Given the description of an element on the screen output the (x, y) to click on. 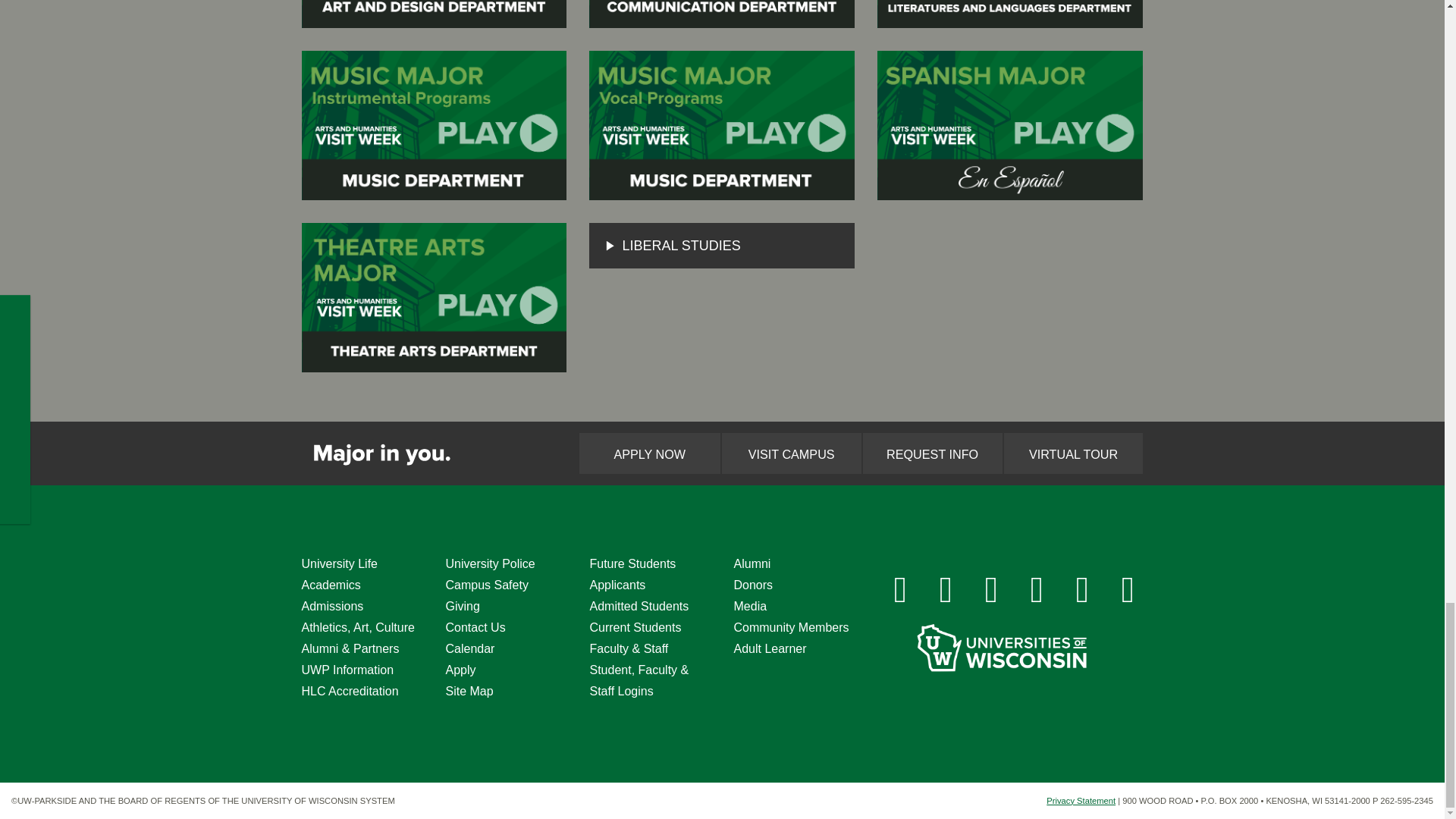
Arts and Humanities Visit Week: Spanish Major (1009, 124)
Arts and Humanities Visit Week: Communication Major (721, 13)
Arts and Humanities Visit Week: English Major (1009, 13)
Arts and Humanities Visit Week: Theatre Arts (434, 297)
